Given the description of an element on the screen output the (x, y) to click on. 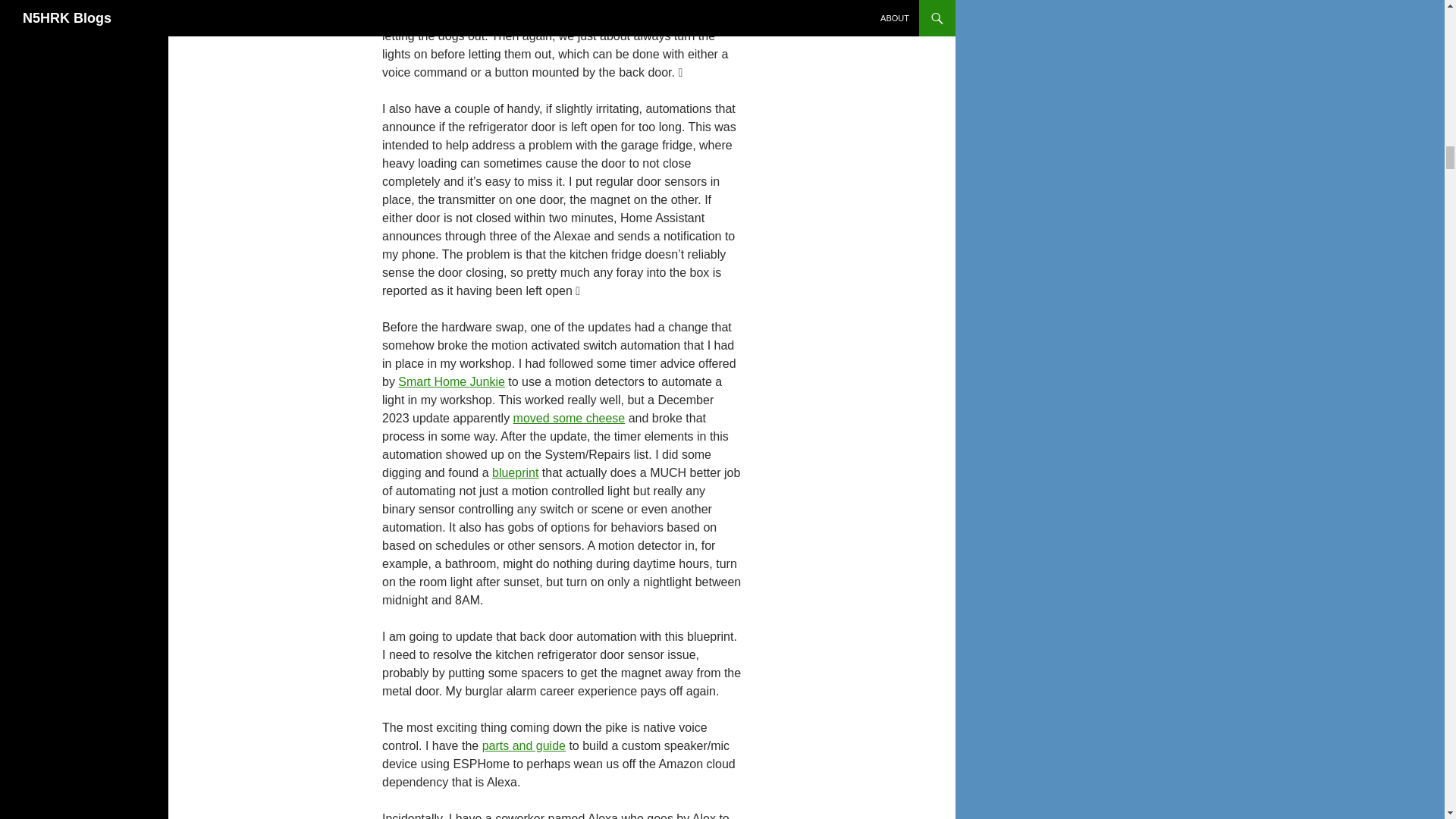
moved some cheese (569, 418)
parts and guide (523, 745)
blueprint (515, 472)
Smart Home Junkie (451, 381)
